Given the description of an element on the screen output the (x, y) to click on. 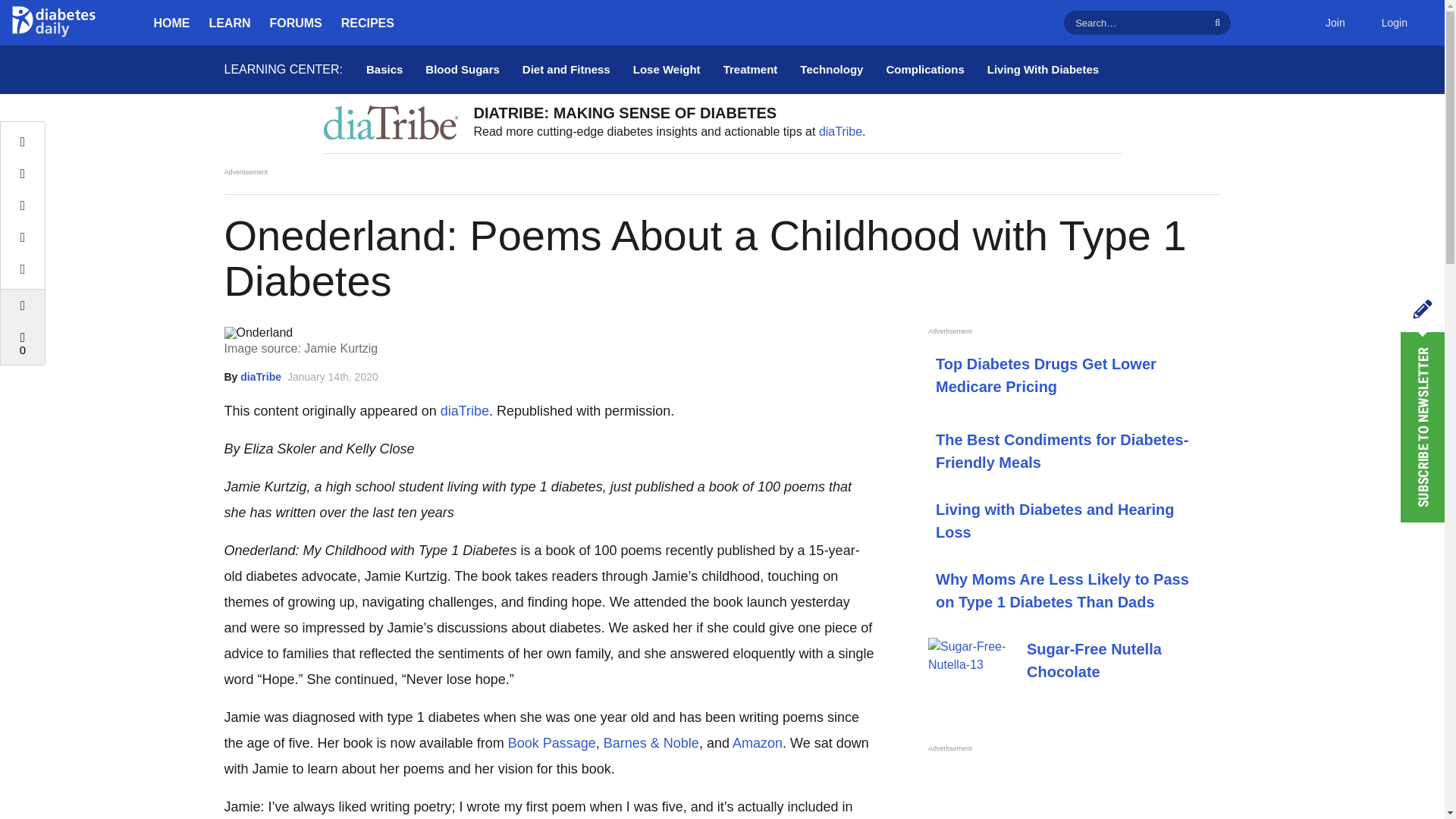
Join (1334, 22)
RECIPES (367, 22)
FORUMS (295, 22)
HOME (171, 22)
Basics (384, 69)
LEARN (229, 22)
Login (1393, 22)
